Given the description of an element on the screen output the (x, y) to click on. 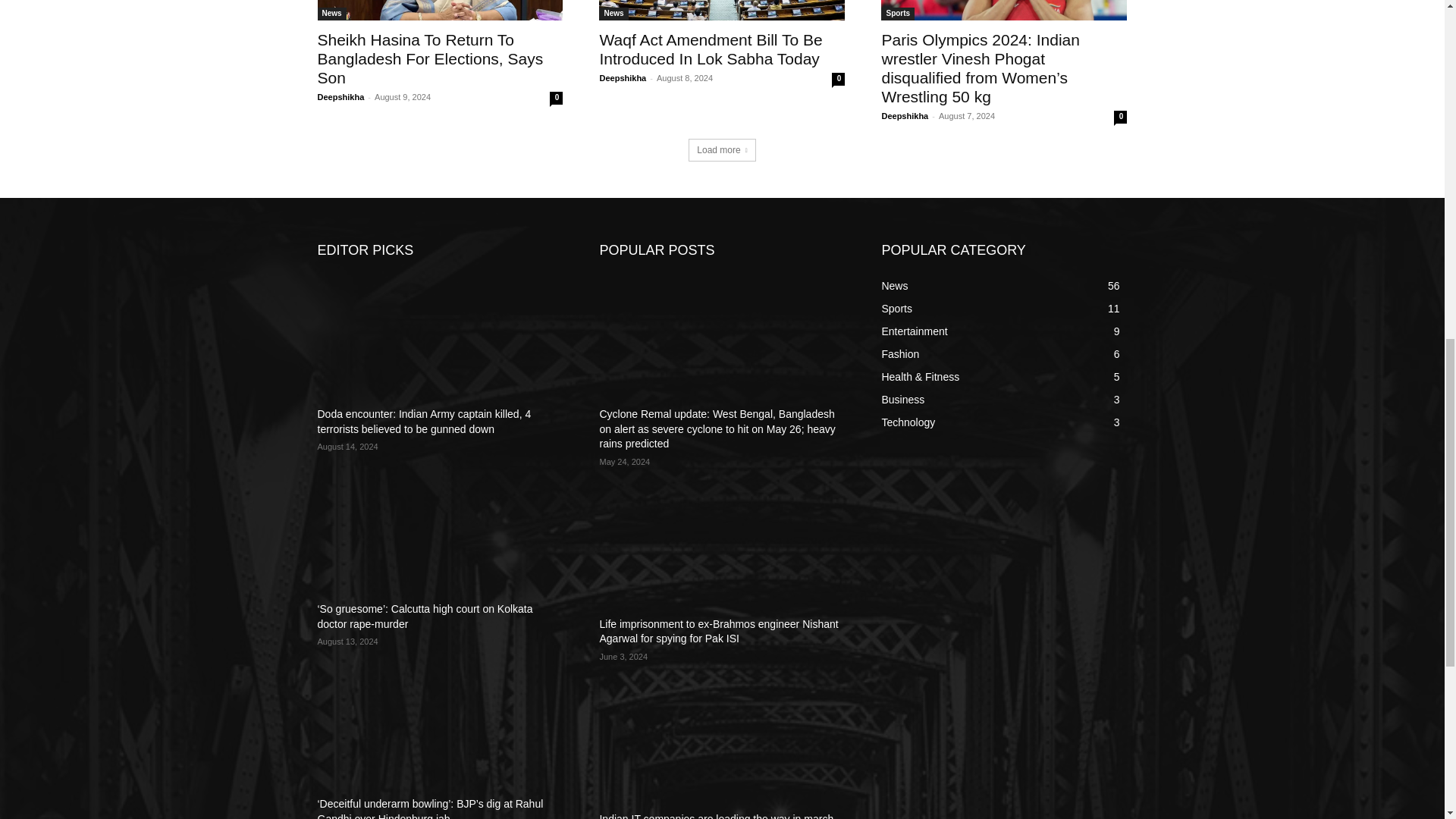
News (331, 13)
Waqf Act Amendment Bill To Be Introduced In Lok Sabha Today (721, 10)
